Given the description of an element on the screen output the (x, y) to click on. 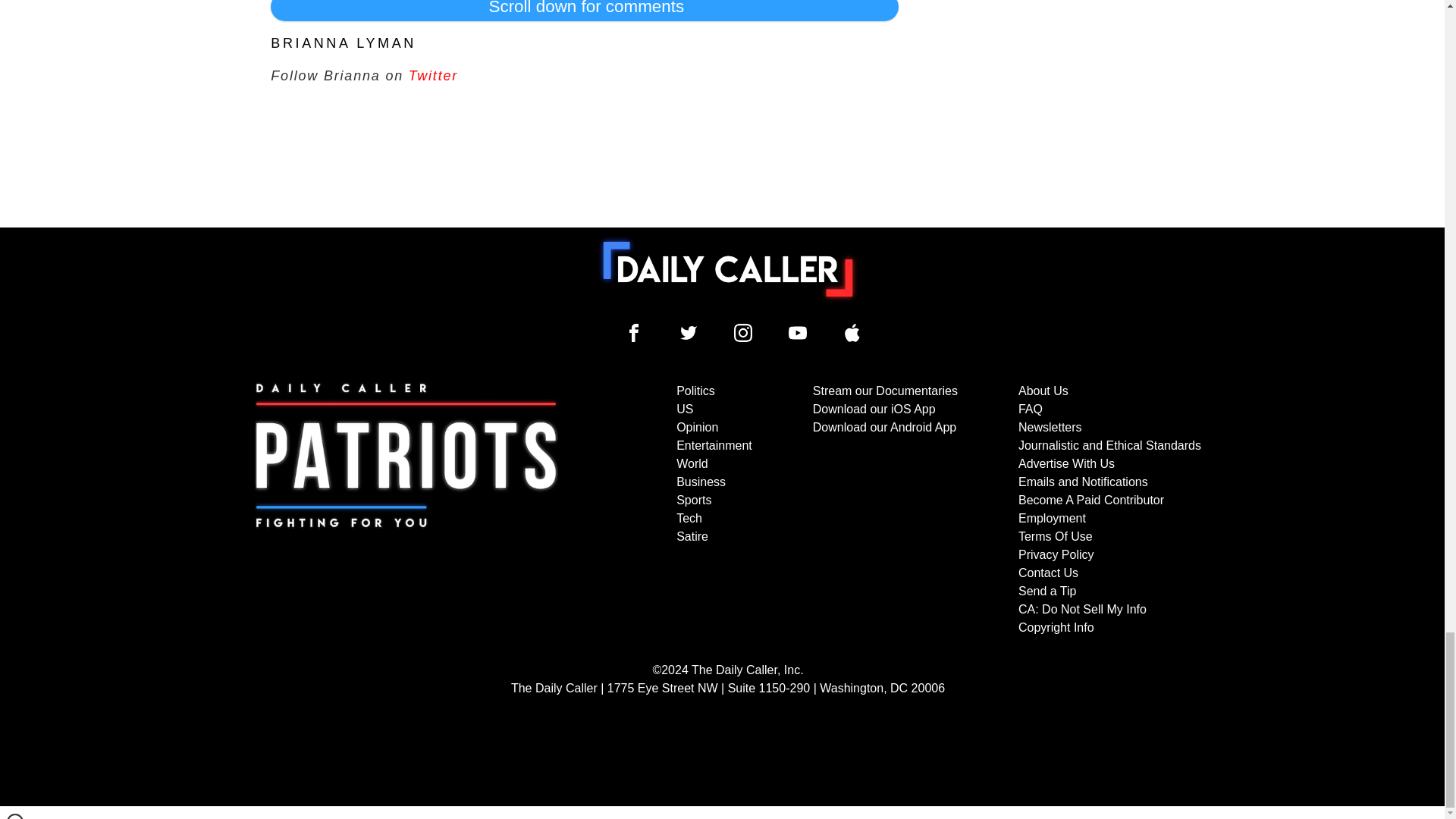
Subscribe to The Daily Caller (405, 509)
Scroll down for comments (584, 10)
Daily Caller Twitter (688, 332)
Daily Caller YouTube (852, 332)
To home page (727, 268)
Daily Caller Instagram (742, 332)
Daily Caller Facebook (633, 332)
Daily Caller YouTube (797, 332)
